Given the description of an element on the screen output the (x, y) to click on. 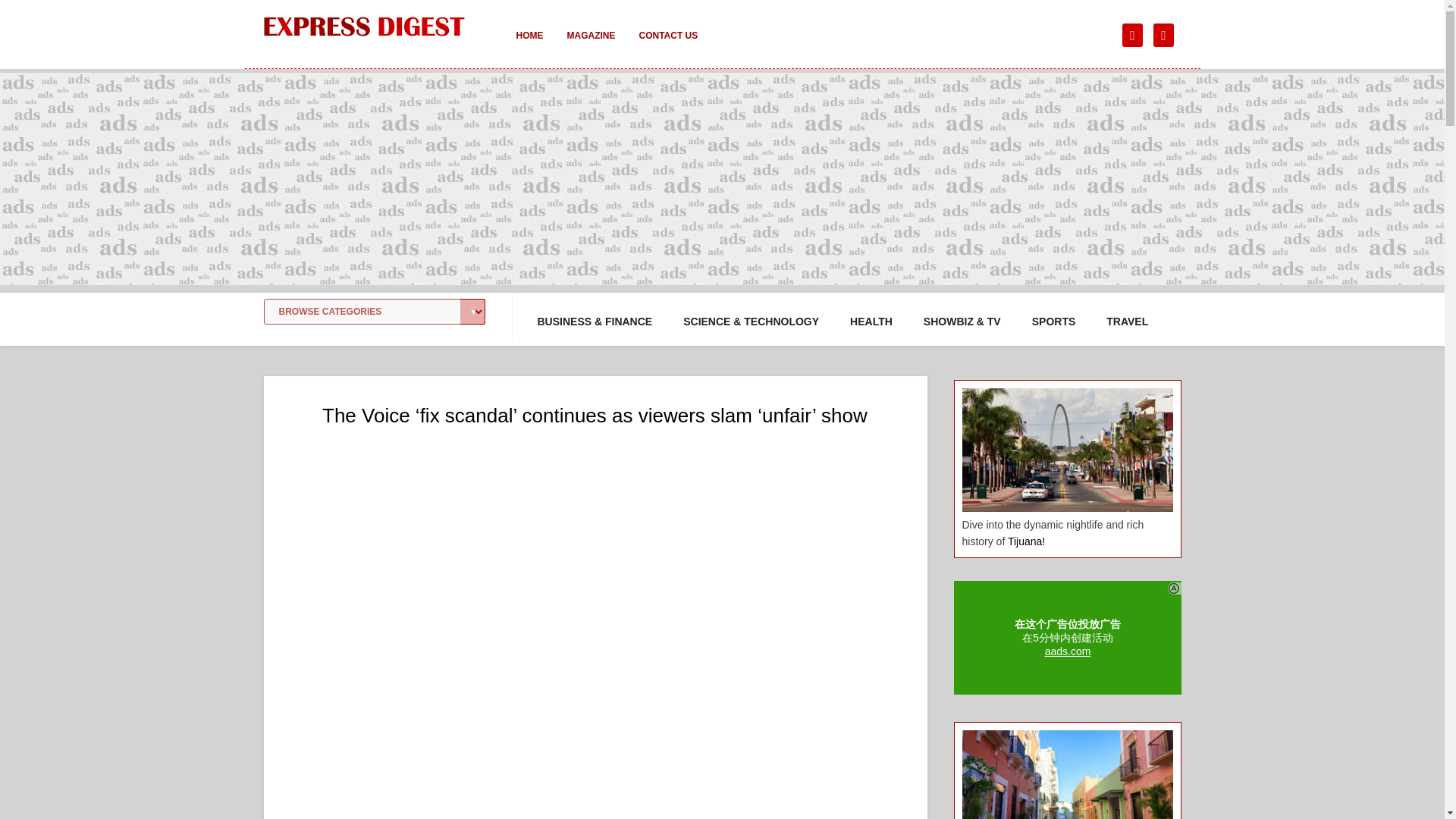
CONTACT US (667, 45)
Tijuana! (1026, 541)
TRAVEL (1127, 321)
HEALTH (871, 321)
SPORTS (1053, 321)
MAGAZINE (590, 45)
